Given the description of an element on the screen output the (x, y) to click on. 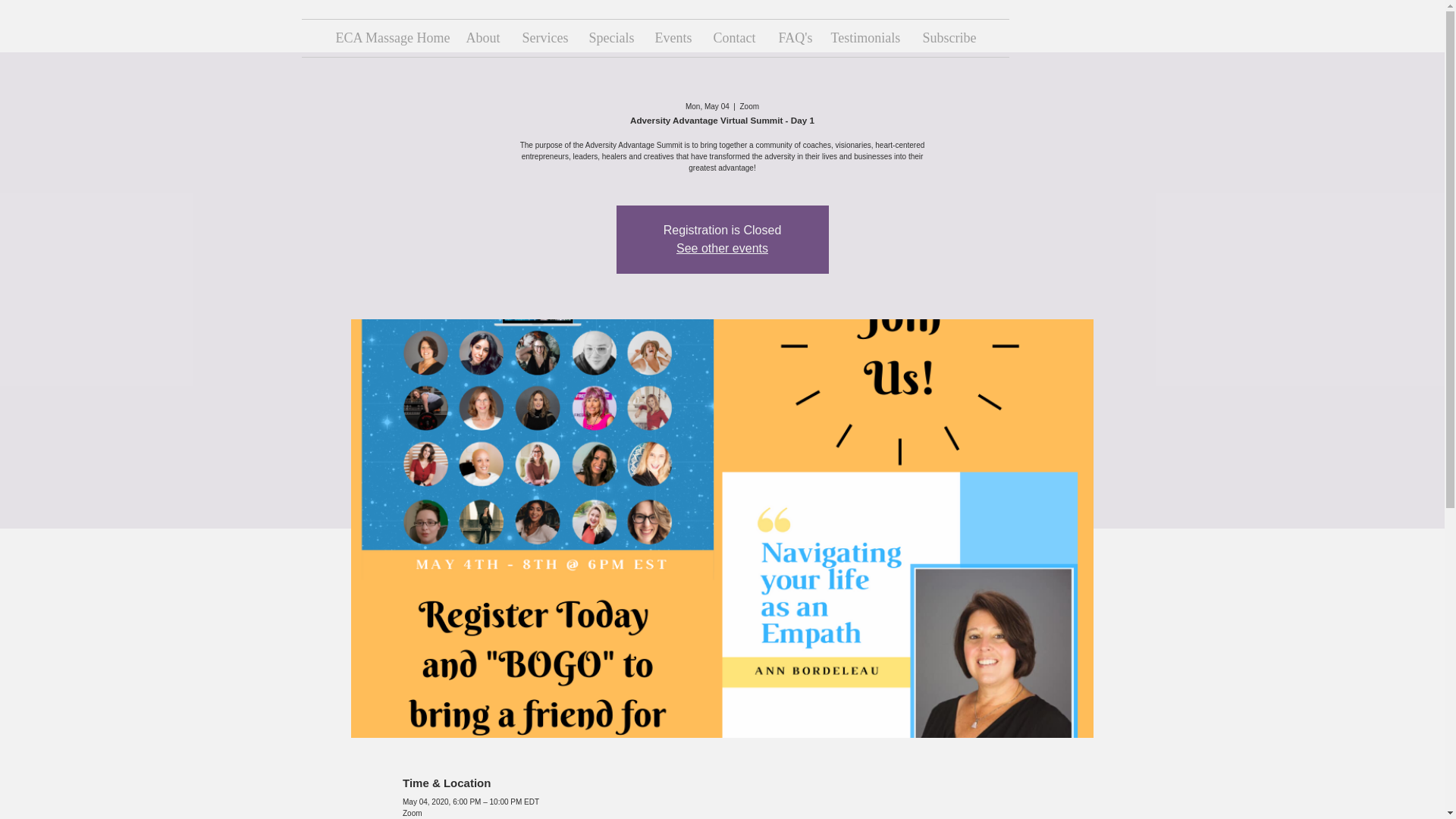
FAQ's (793, 37)
See other events (722, 247)
Events (672, 37)
Services (544, 37)
About (482, 37)
Specials (610, 37)
Subscribe (949, 37)
Testimonials (864, 37)
ECA Massage Home (389, 37)
Contact (734, 37)
